Given the description of an element on the screen output the (x, y) to click on. 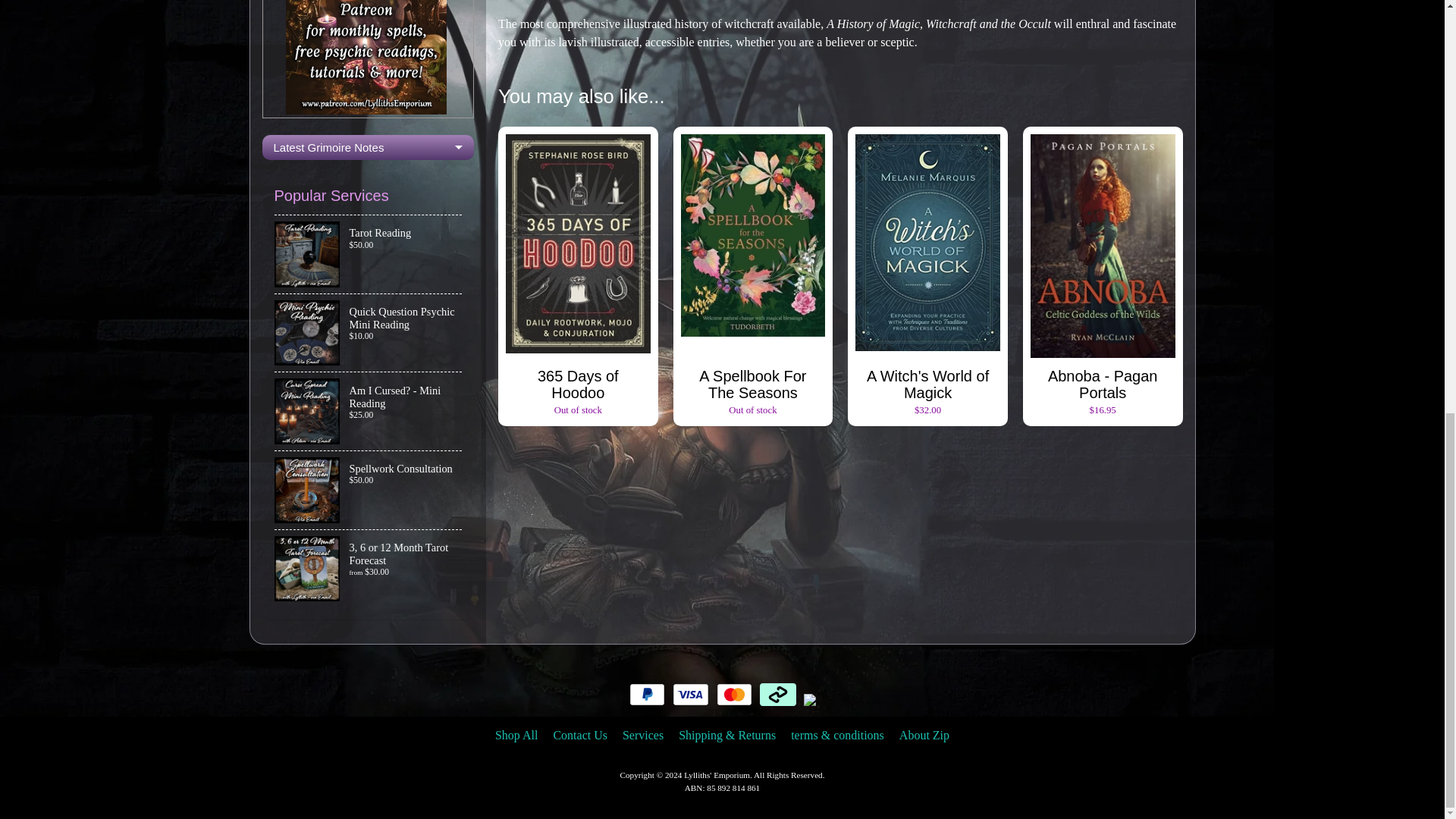
Spellwork Consultation (369, 490)
Quick Question Psychic Mini Reading (369, 333)
Tarot Reading (369, 254)
Am I Cursed? - Mini Reading (369, 411)
3, 6 or 12 Month Tarot Forecast (369, 568)
